Given the description of an element on the screen output the (x, y) to click on. 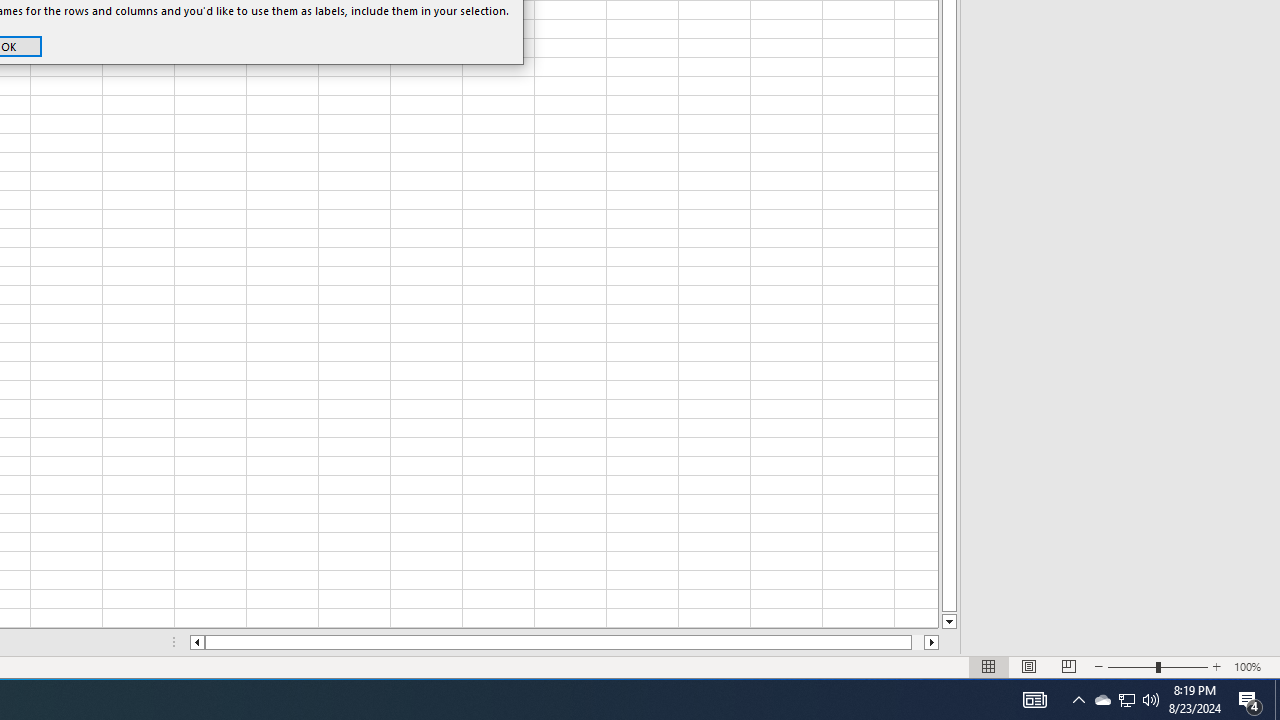
Notification Chevron (1078, 699)
Action Center, 4 new notifications (1250, 699)
Q2790: 100% (1102, 699)
Show desktop (1151, 699)
User Promoted Notification Area (1126, 699)
